Given the description of an element on the screen output the (x, y) to click on. 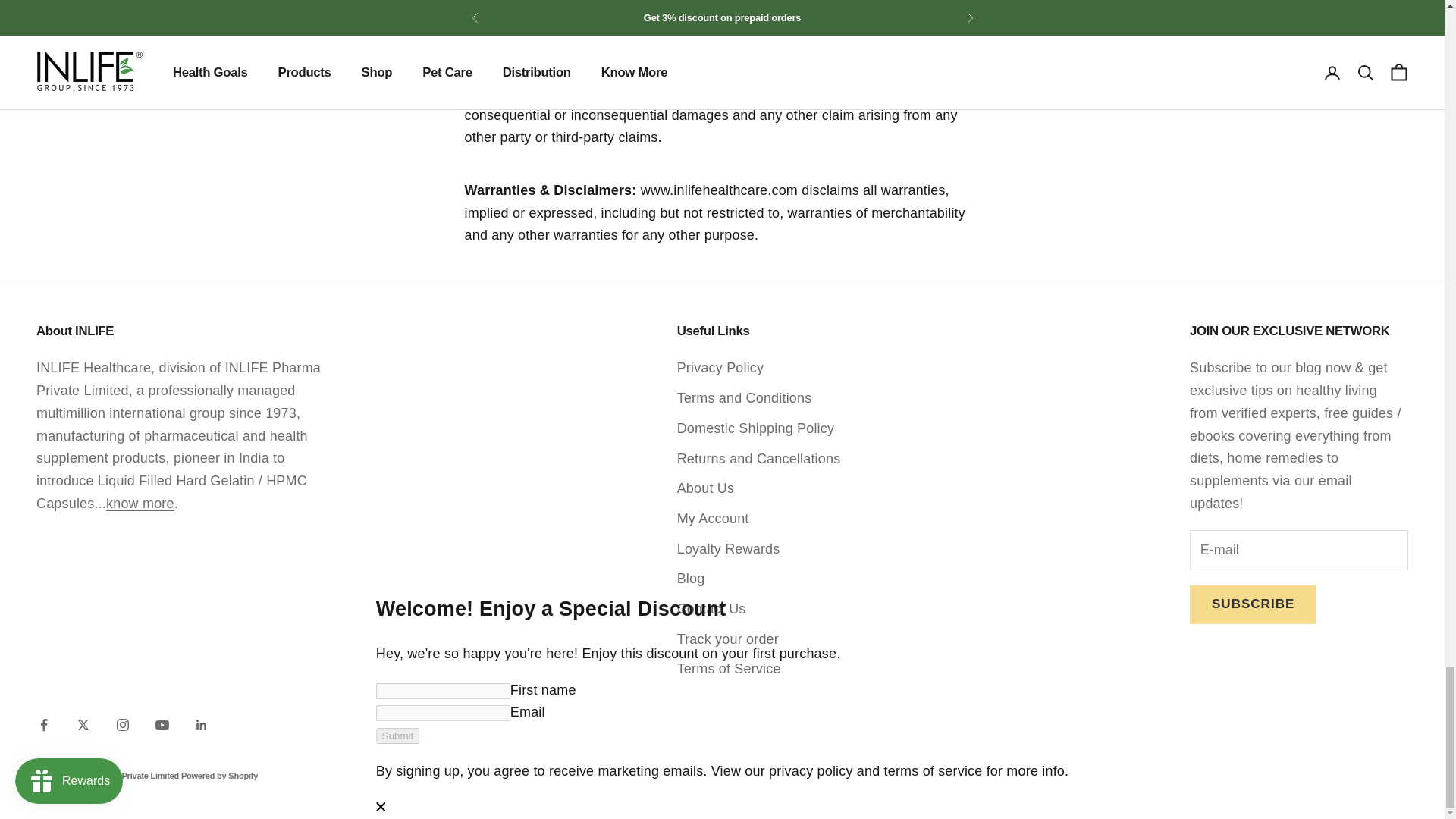
About Us (140, 503)
